Given the description of an element on the screen output the (x, y) to click on. 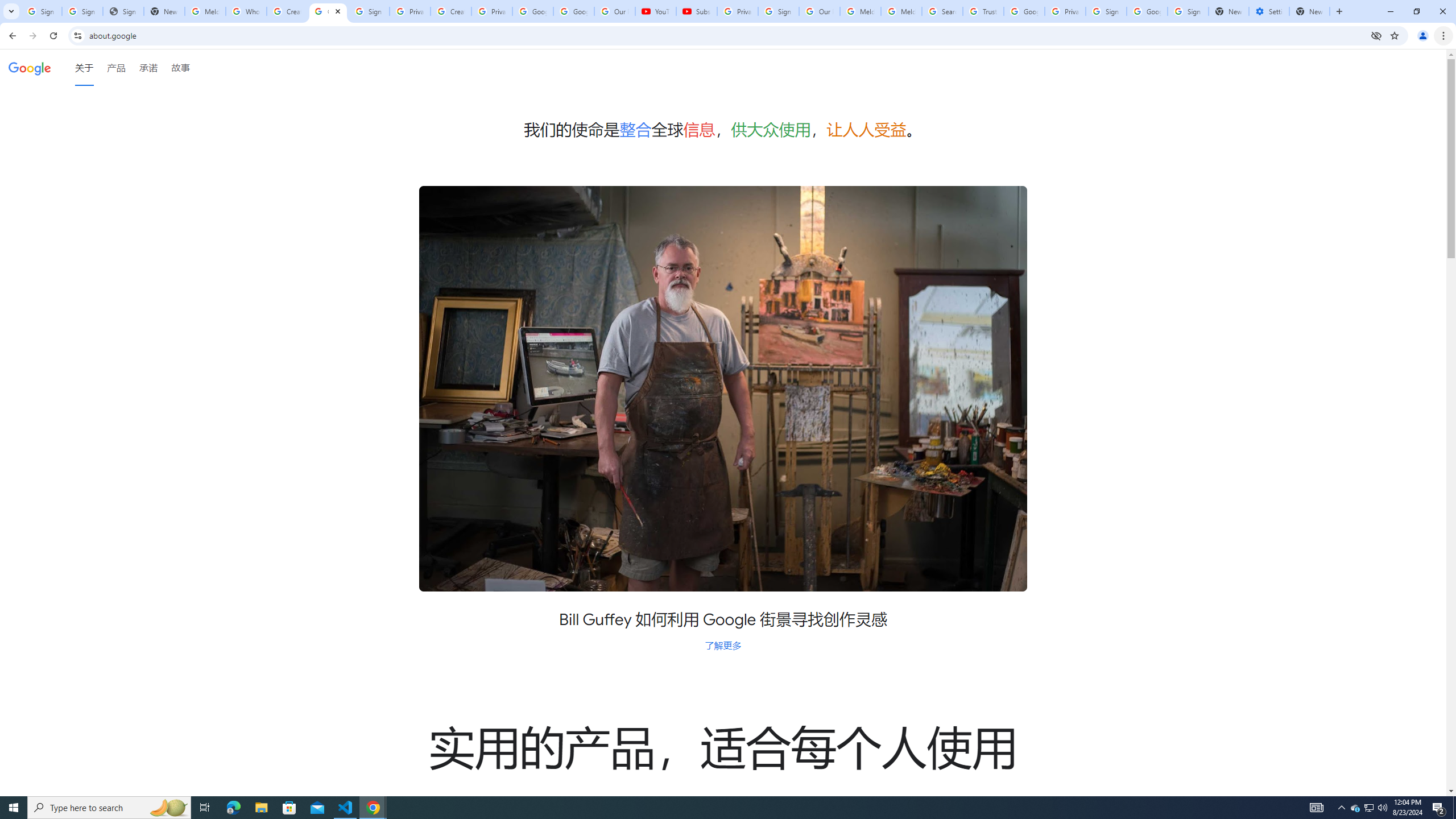
YouTube (655, 11)
Sign in - Google Accounts (777, 11)
Subscriptions - YouTube (696, 11)
Create your Google Account (450, 11)
Settings - Addresses and more (1268, 11)
